Given the description of an element on the screen output the (x, y) to click on. 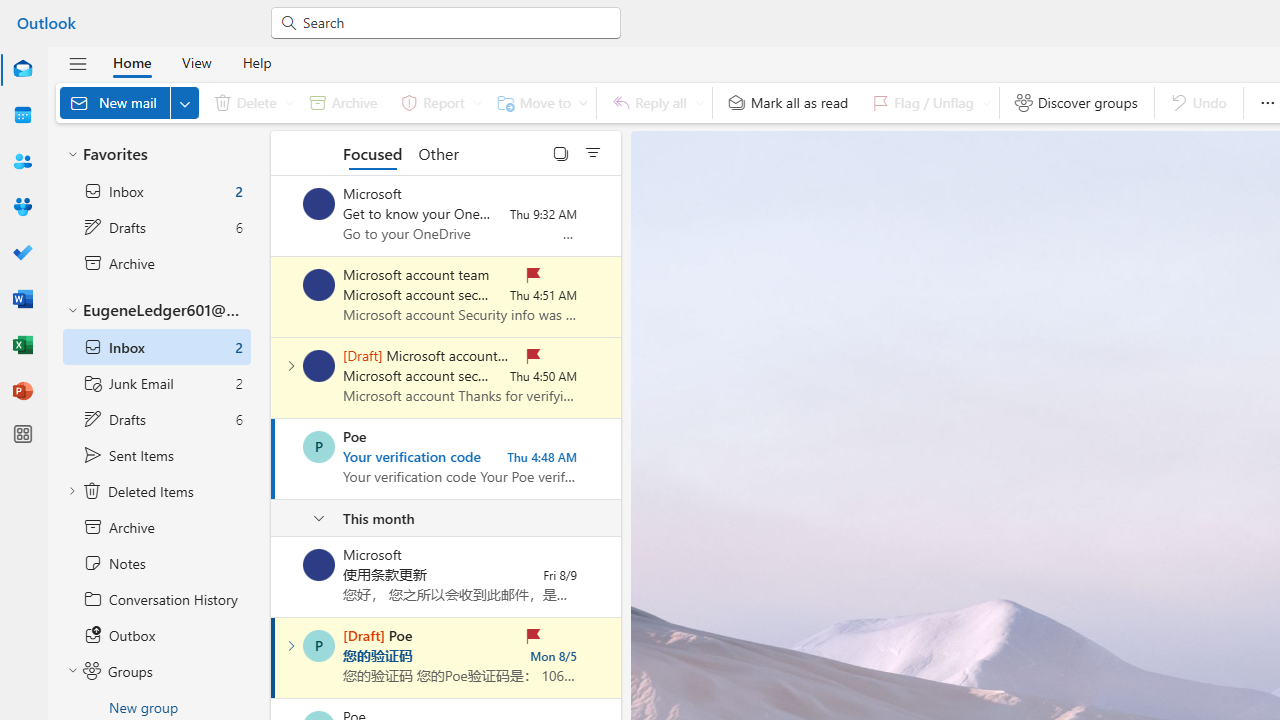
Hide navigation pane (77, 63)
Discover groups (1076, 102)
To Do (22, 252)
Excel (22, 344)
To Do (22, 254)
Expand to see delete options (289, 102)
Expand to see more report options (477, 102)
Filter (593, 152)
People (22, 161)
Mark all as read (788, 102)
Mail (22, 69)
